Given the description of an element on the screen output the (x, y) to click on. 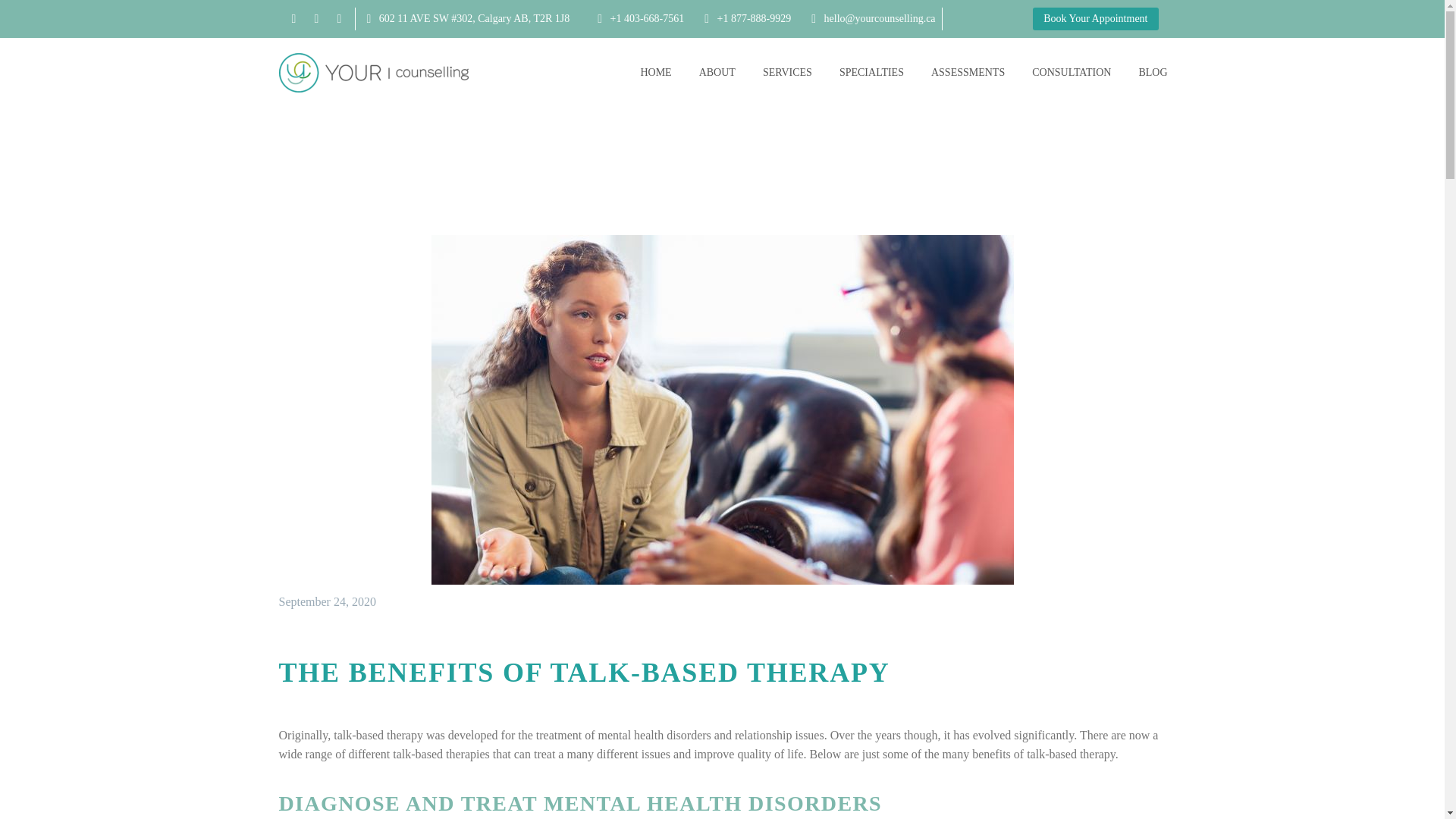
HOME (655, 72)
Book Your Appointment (1094, 18)
Twitter (315, 19)
Instagram (338, 19)
CONSULTATION (1071, 72)
Facebook (293, 19)
SERVICES (787, 72)
BLOG (1151, 72)
ASSESSMENTS (968, 72)
ABOUT (716, 72)
SPECIALTIES (871, 72)
